Given the description of an element on the screen output the (x, y) to click on. 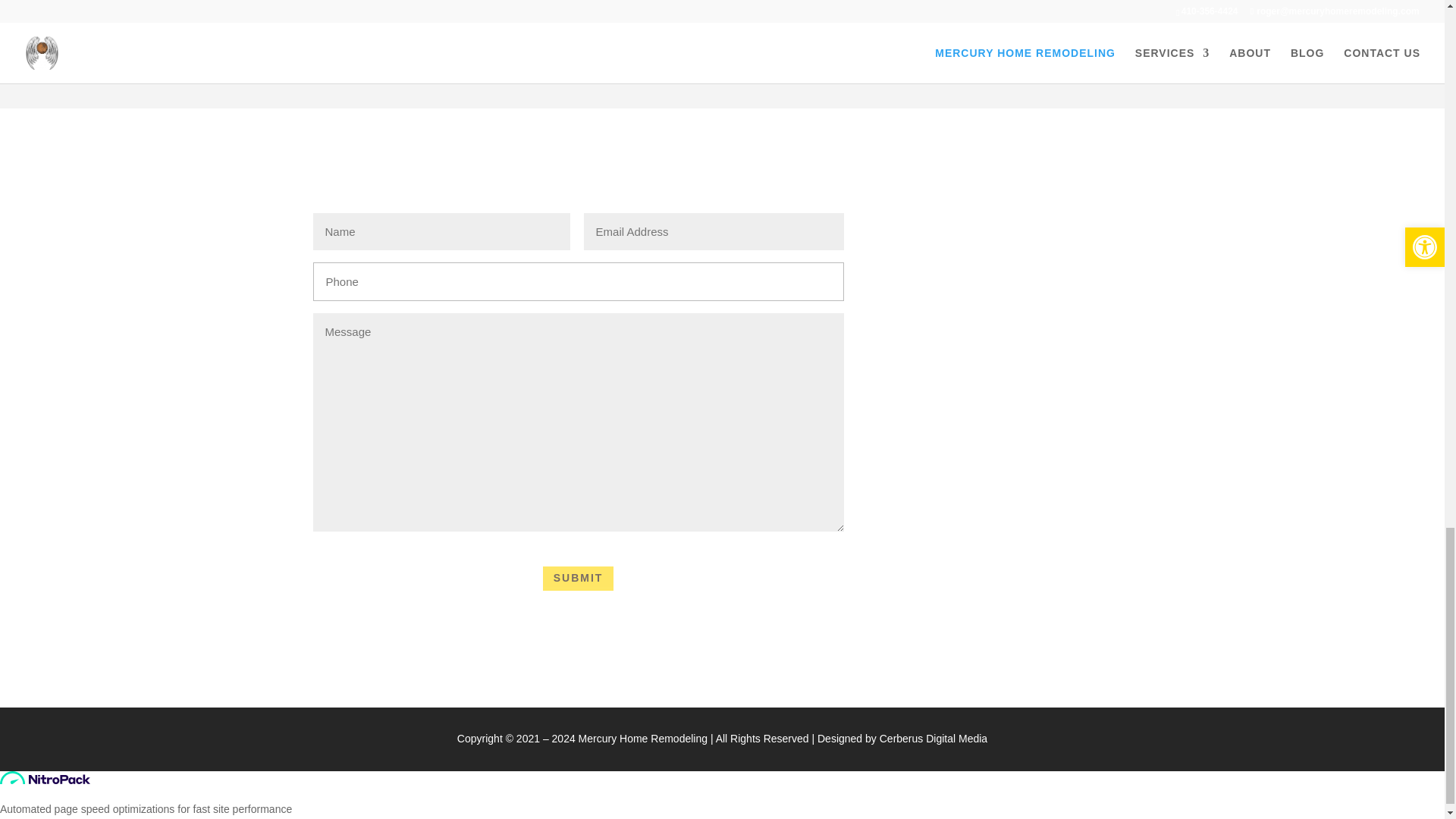
Cerberus Digital Media (933, 738)
SUBMIT (578, 578)
